Given the description of an element on the screen output the (x, y) to click on. 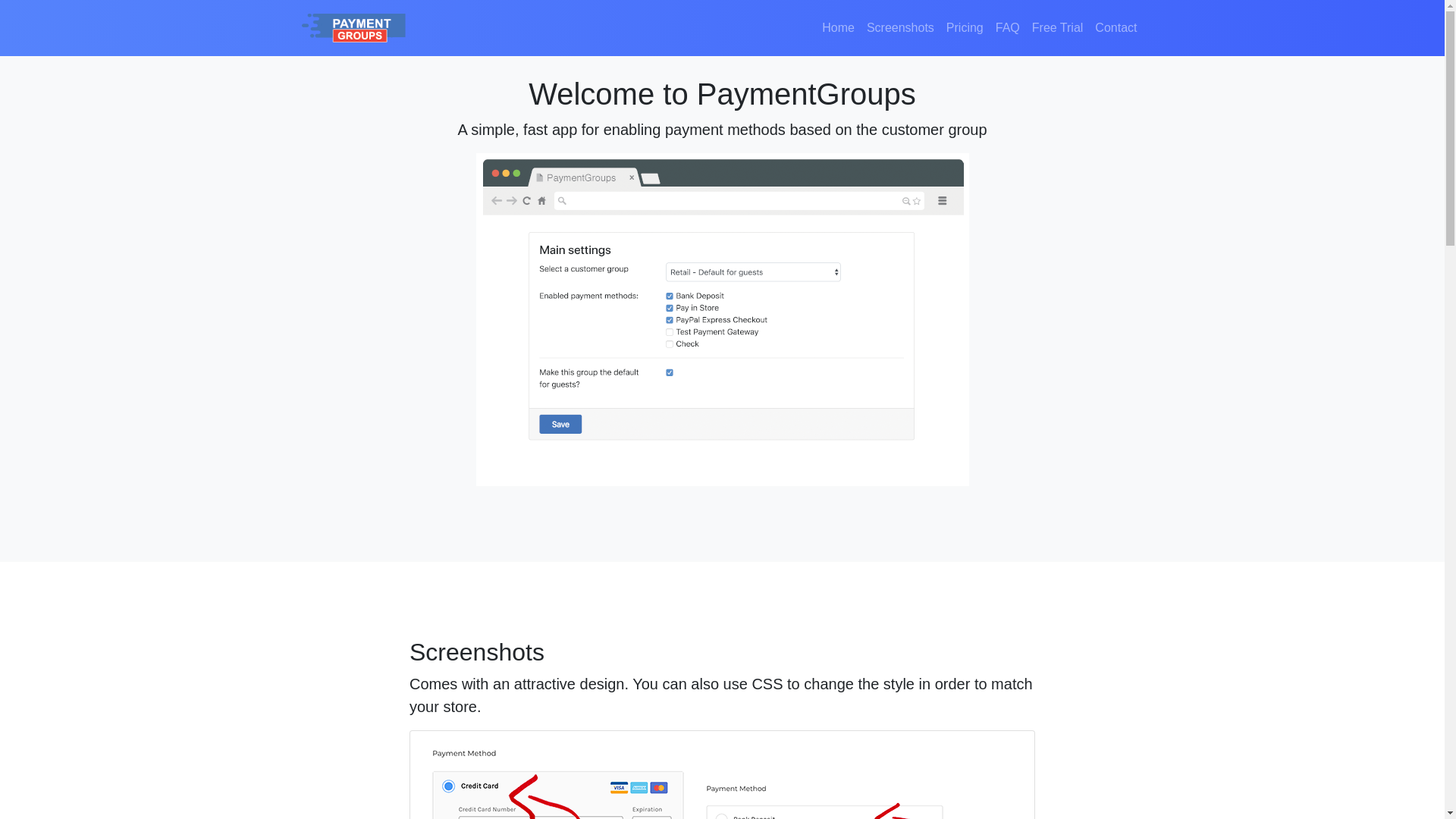
Pricing (965, 28)
FAQ (1008, 28)
FAQ (1008, 28)
Screenshots (900, 28)
Free Trial (1057, 28)
Home (837, 28)
Contact (1115, 28)
Screenshots (900, 28)
Contact (1115, 28)
Home (837, 28)
